Given the description of an element on the screen output the (x, y) to click on. 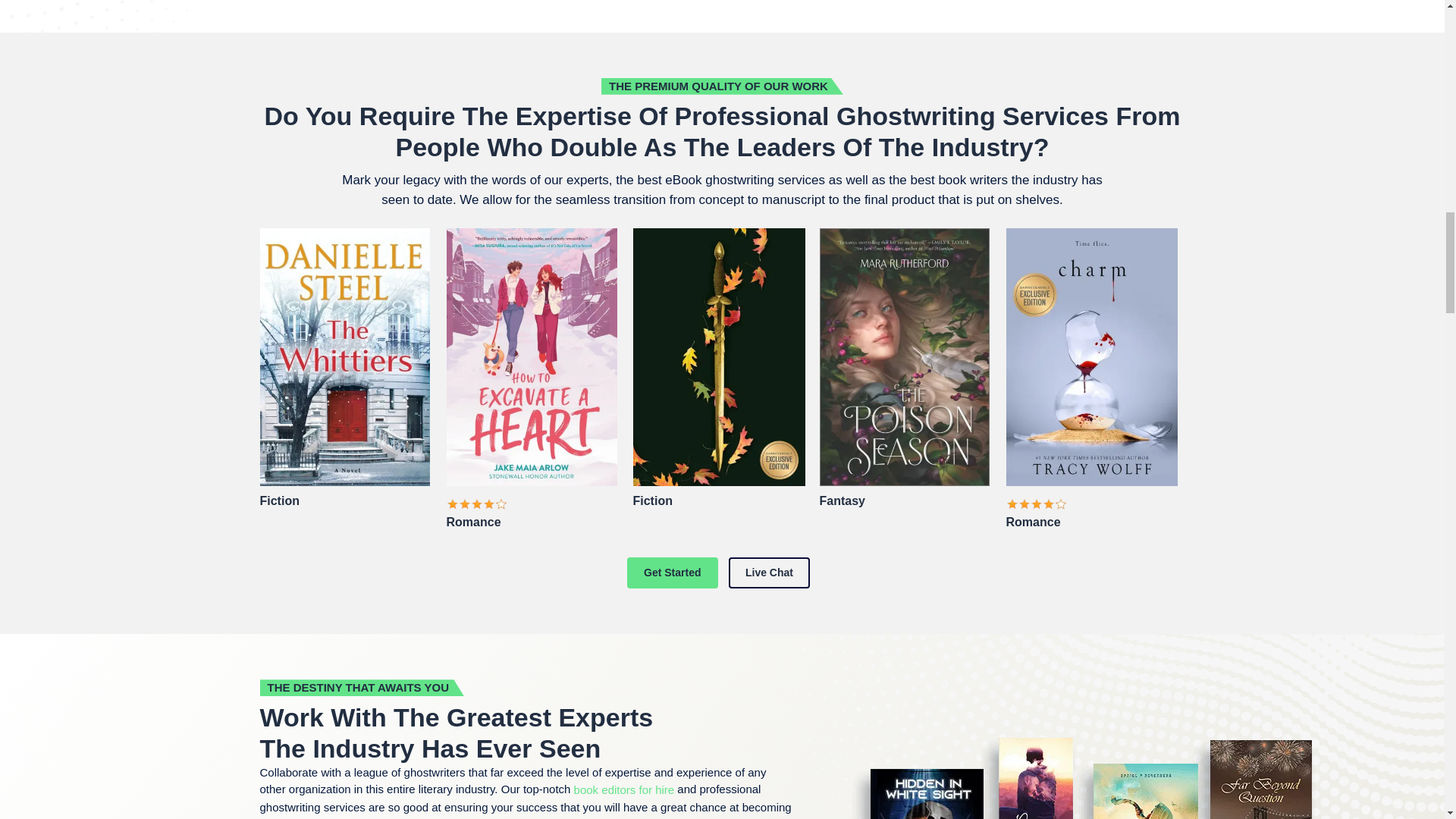
Get Started (672, 572)
